Given the description of an element on the screen output the (x, y) to click on. 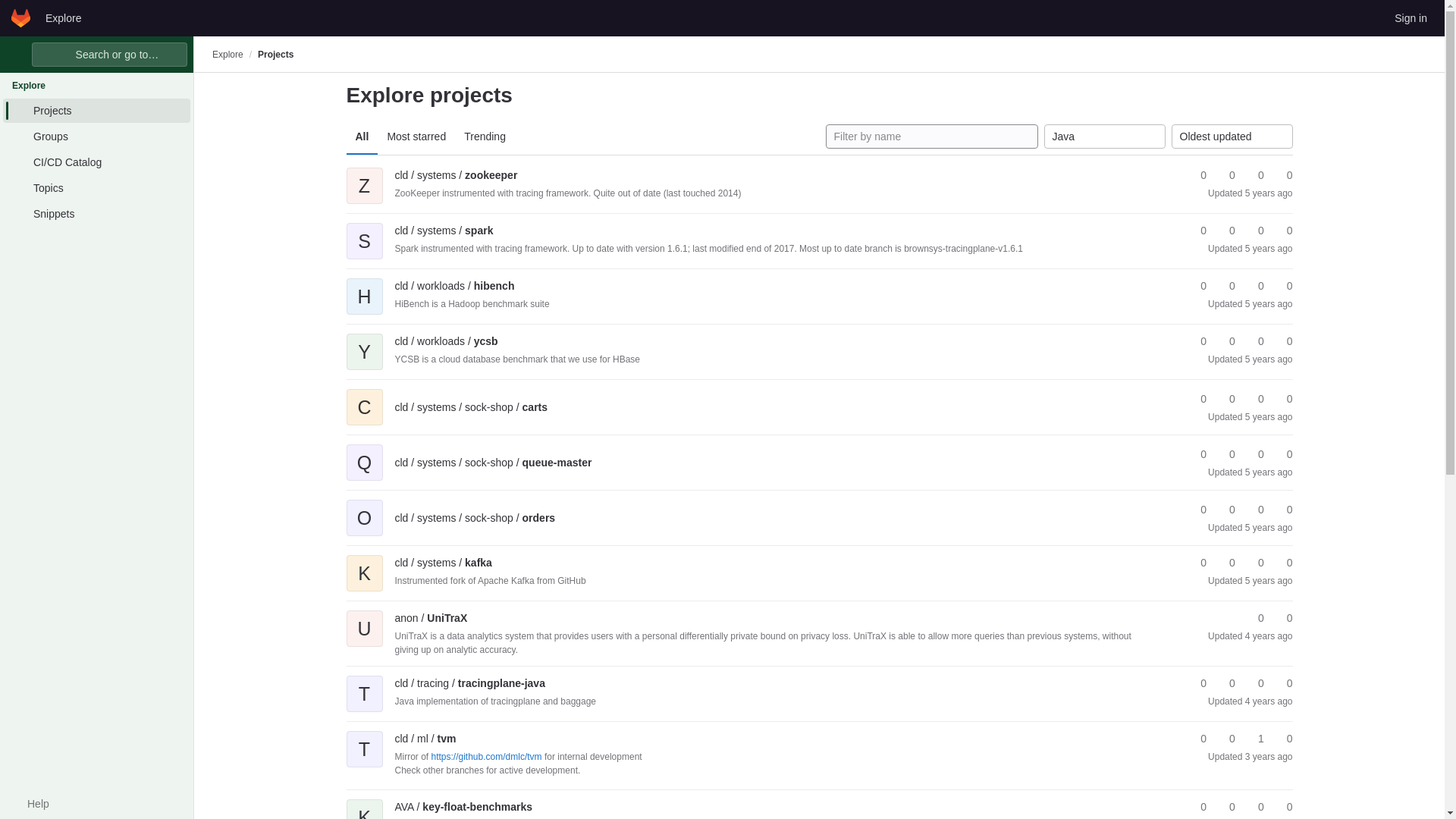
Homepage (20, 17)
Issues (1282, 230)
Explore (63, 17)
Projects (96, 110)
Issues (1282, 175)
Forks (1224, 175)
Forks (1224, 230)
Groups (96, 136)
zookeeper (455, 174)
Help (30, 803)
Java (1103, 136)
Topics (96, 187)
Snippets (96, 213)
Most starred (415, 135)
